Given the description of an element on the screen output the (x, y) to click on. 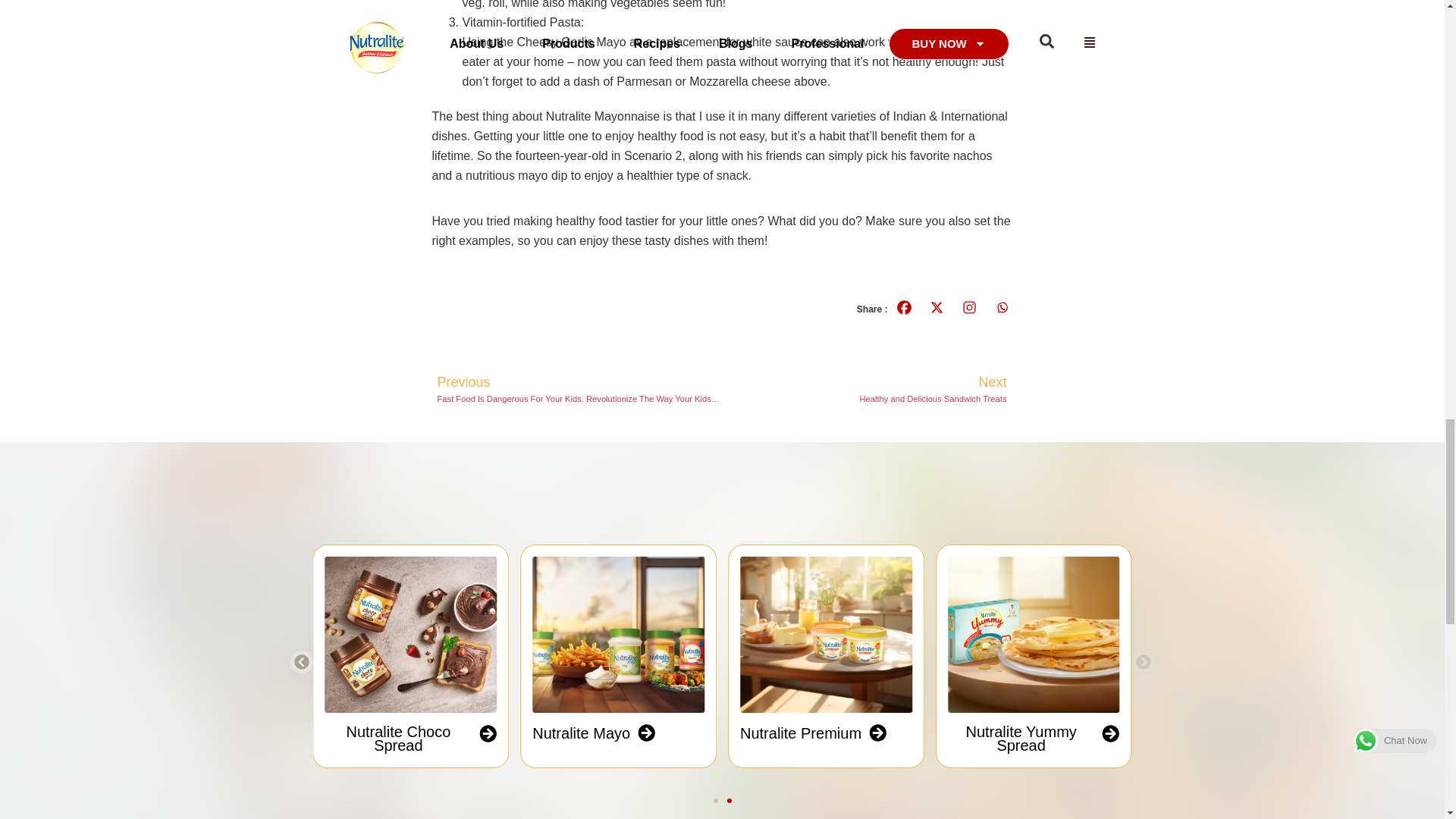
Instagram (967, 307)
Facebook (903, 307)
Whatsapp (1001, 307)
X (936, 307)
